Given the description of an element on the screen output the (x, y) to click on. 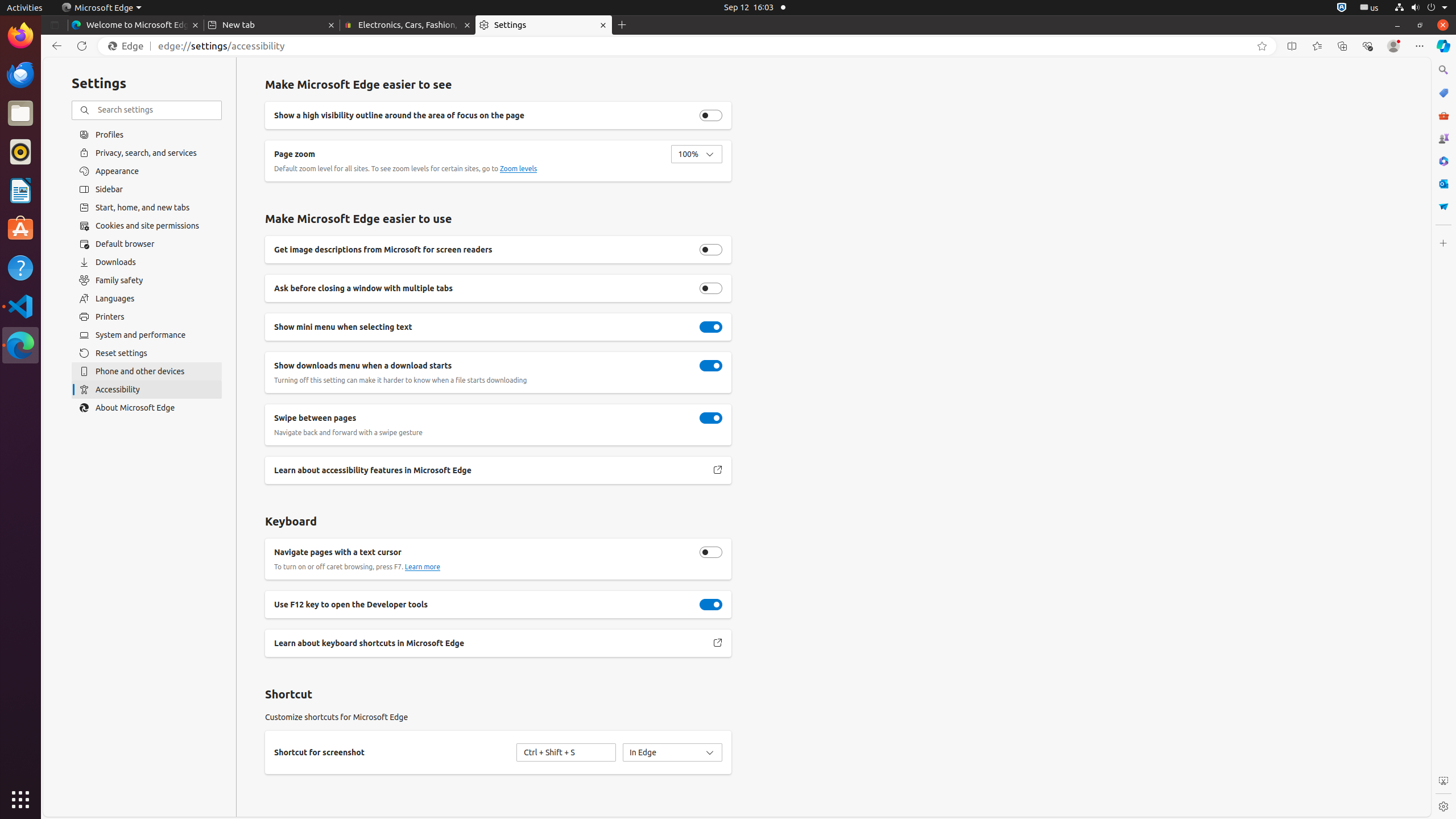
New Tab Element type: push-button (622, 25)
